Given the description of an element on the screen output the (x, y) to click on. 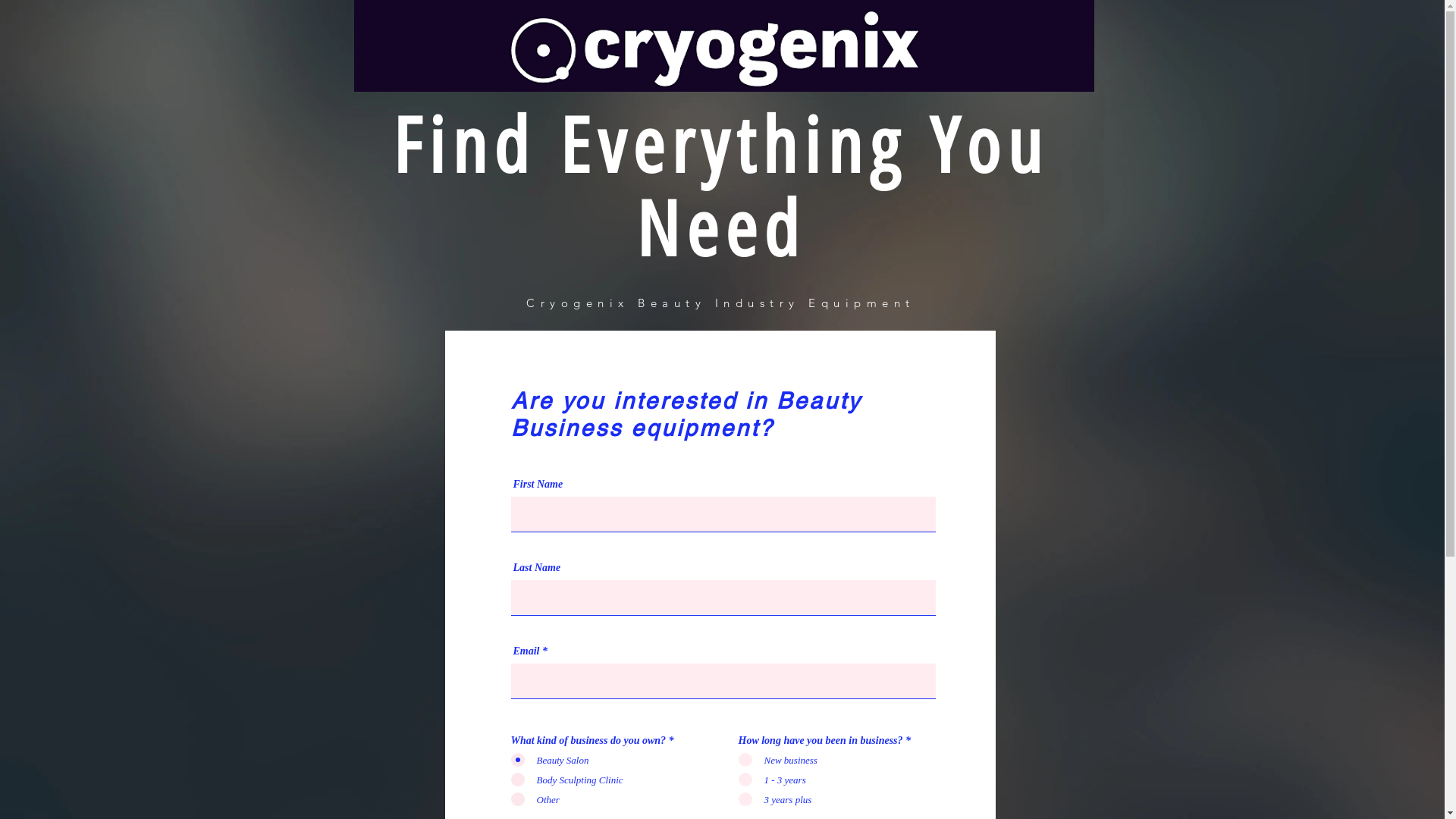
TWIPLA (Visitor Analytics) Element type: hover (1146, 349)
